Given the description of an element on the screen output the (x, y) to click on. 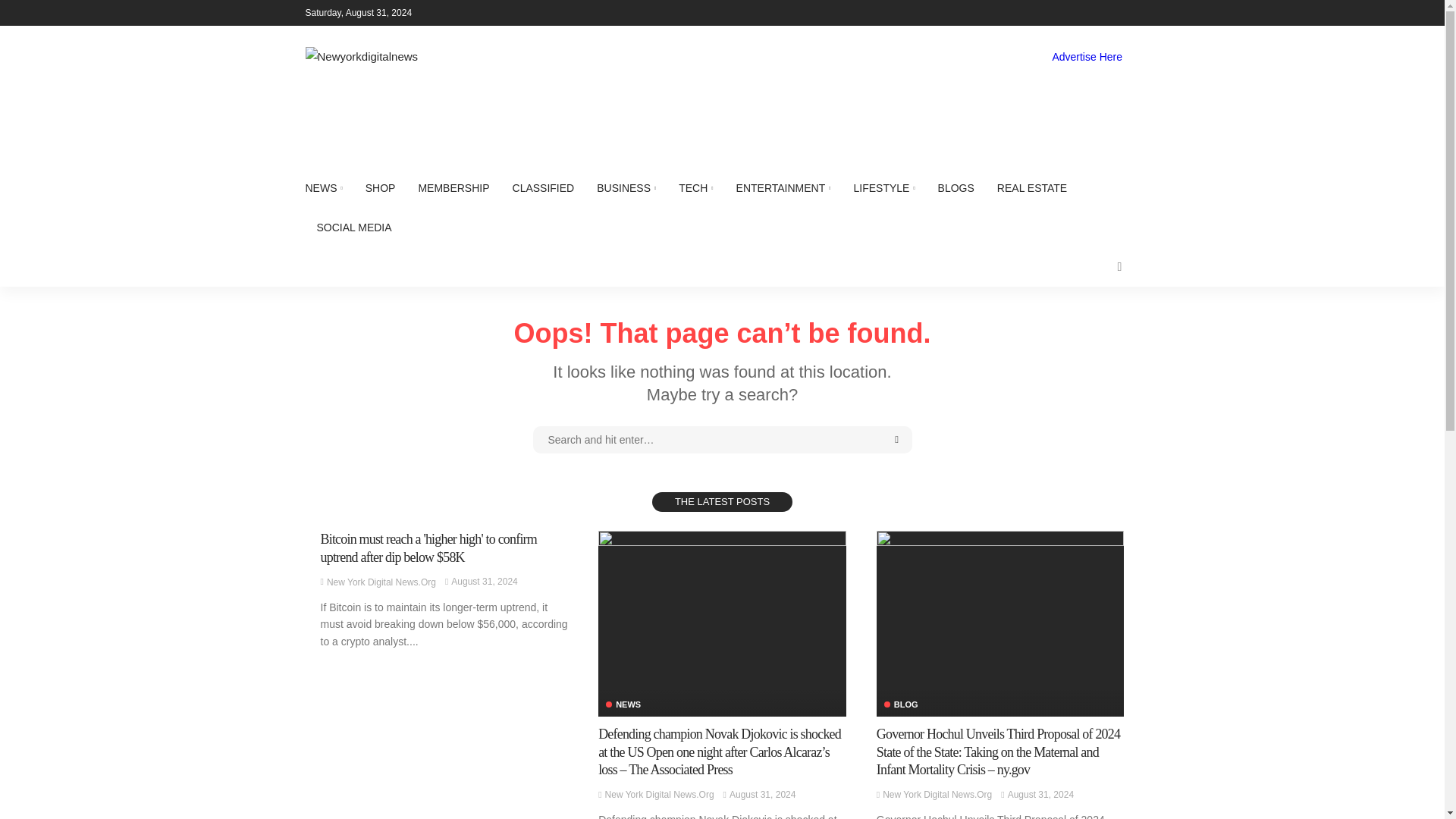
search (1118, 266)
Blog (900, 705)
search for: (721, 439)
News (622, 705)
